Given the description of an element on the screen output the (x, y) to click on. 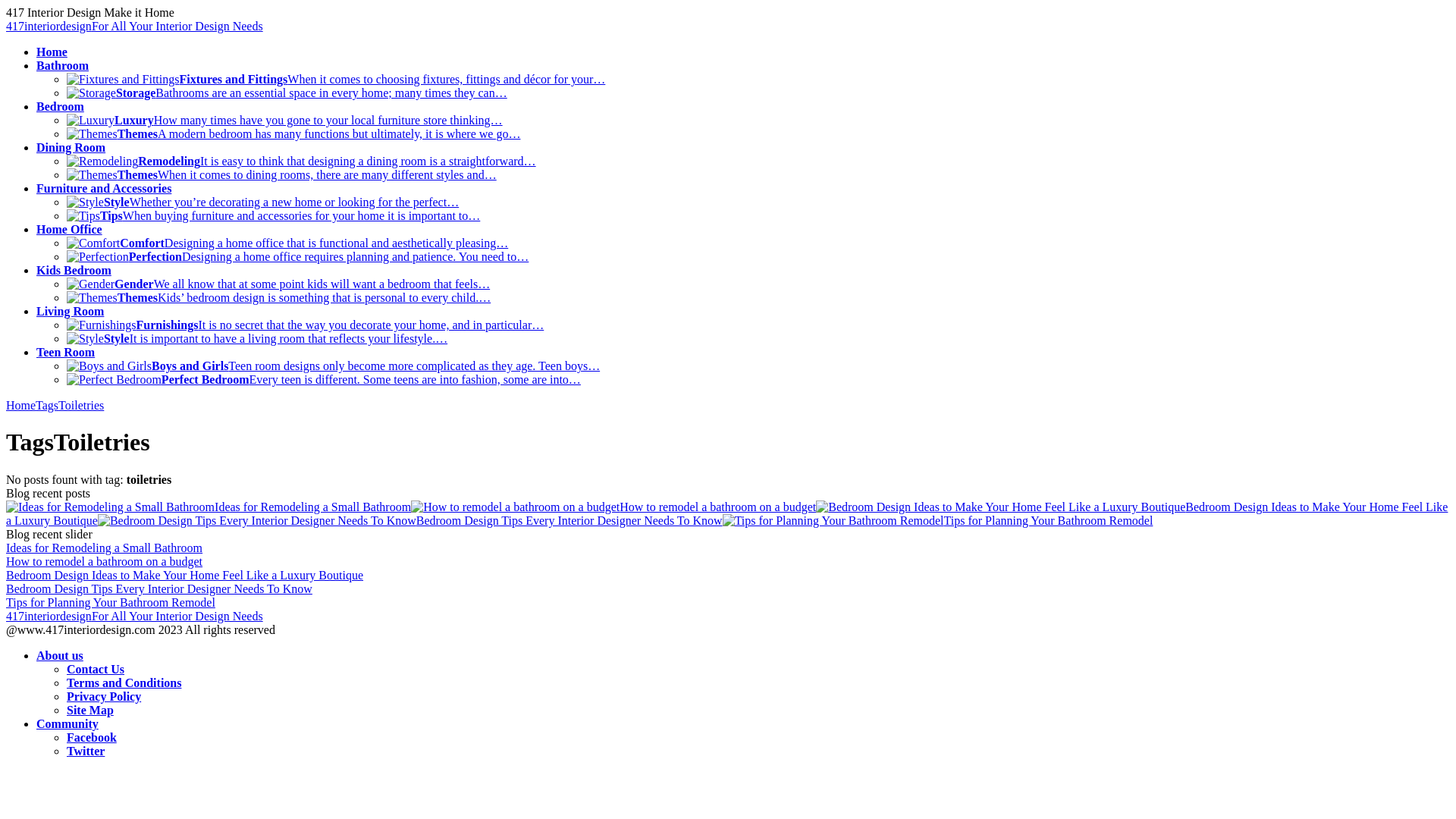
Bathroom Element type: text (62, 65)
417interiordesignFor All Your Interior Design Needs Element type: text (134, 615)
Bedroom Element type: text (60, 106)
Living Room Element type: text (69, 310)
Bedroom Design Tips Every Interior Designer Needs To Know Element type: text (159, 588)
Bedroom Design Tips Every Interior Designer Needs To Know Element type: text (409, 520)
Twitter Element type: text (85, 750)
Dining Room Element type: text (70, 147)
Ideas for Remodeling a Small Bathroom Element type: text (104, 547)
Tags Element type: text (46, 404)
How to remodel a bathroom on a budget Element type: text (104, 561)
Facebook Element type: text (91, 737)
About us Element type: text (59, 655)
Home Element type: text (51, 51)
Home Element type: text (20, 404)
417interiordesignFor All Your Interior Design Needs Element type: text (134, 25)
Furniture and Accessories Element type: text (103, 188)
Toiletries Element type: text (80, 404)
Terms and Conditions Element type: text (123, 682)
Tips for Planning Your Bathroom Remodel Element type: text (110, 602)
How to remodel a bathroom on a budget Element type: text (613, 506)
Community Element type: text (67, 723)
Privacy Policy Element type: text (103, 696)
Kids Bedroom Element type: text (73, 269)
Home Office Element type: text (69, 228)
Contact Us Element type: text (95, 668)
Site Map Element type: text (89, 709)
Tips for Planning Your Bathroom Remodel Element type: text (937, 520)
Ideas for Remodeling a Small Bathroom Element type: text (208, 506)
Teen Room Element type: text (65, 351)
